Given the description of an element on the screen output the (x, y) to click on. 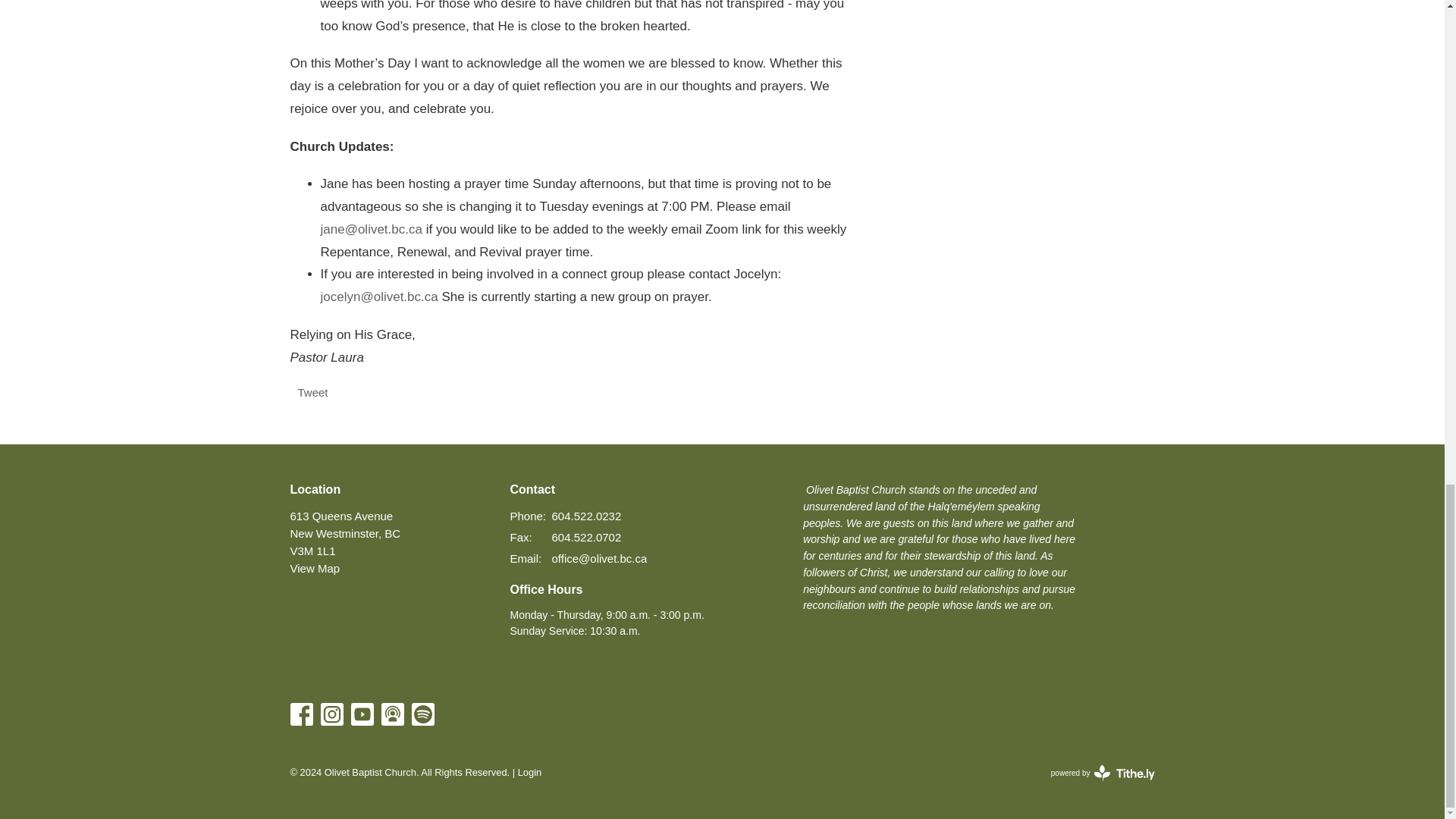
Login (529, 772)
translation missing: en.ui.email (523, 558)
604.522.0232 (586, 515)
View Map (314, 567)
Tweet (312, 391)
